Given the description of an element on the screen output the (x, y) to click on. 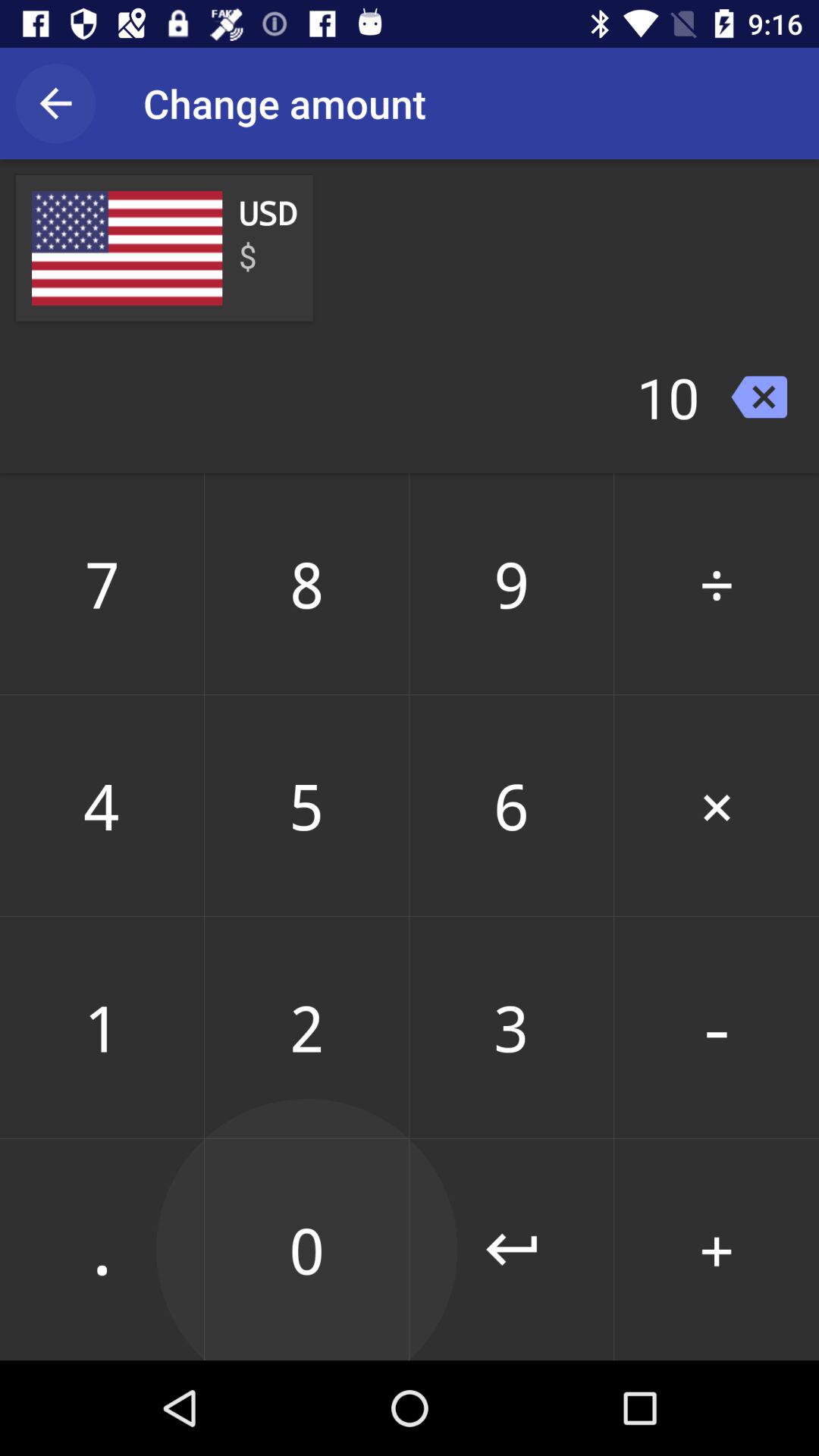
click the number next to 8 (511, 583)
select the number next to 5 (511, 805)
click the add button (716, 1248)
